Given the description of an element on the screen output the (x, y) to click on. 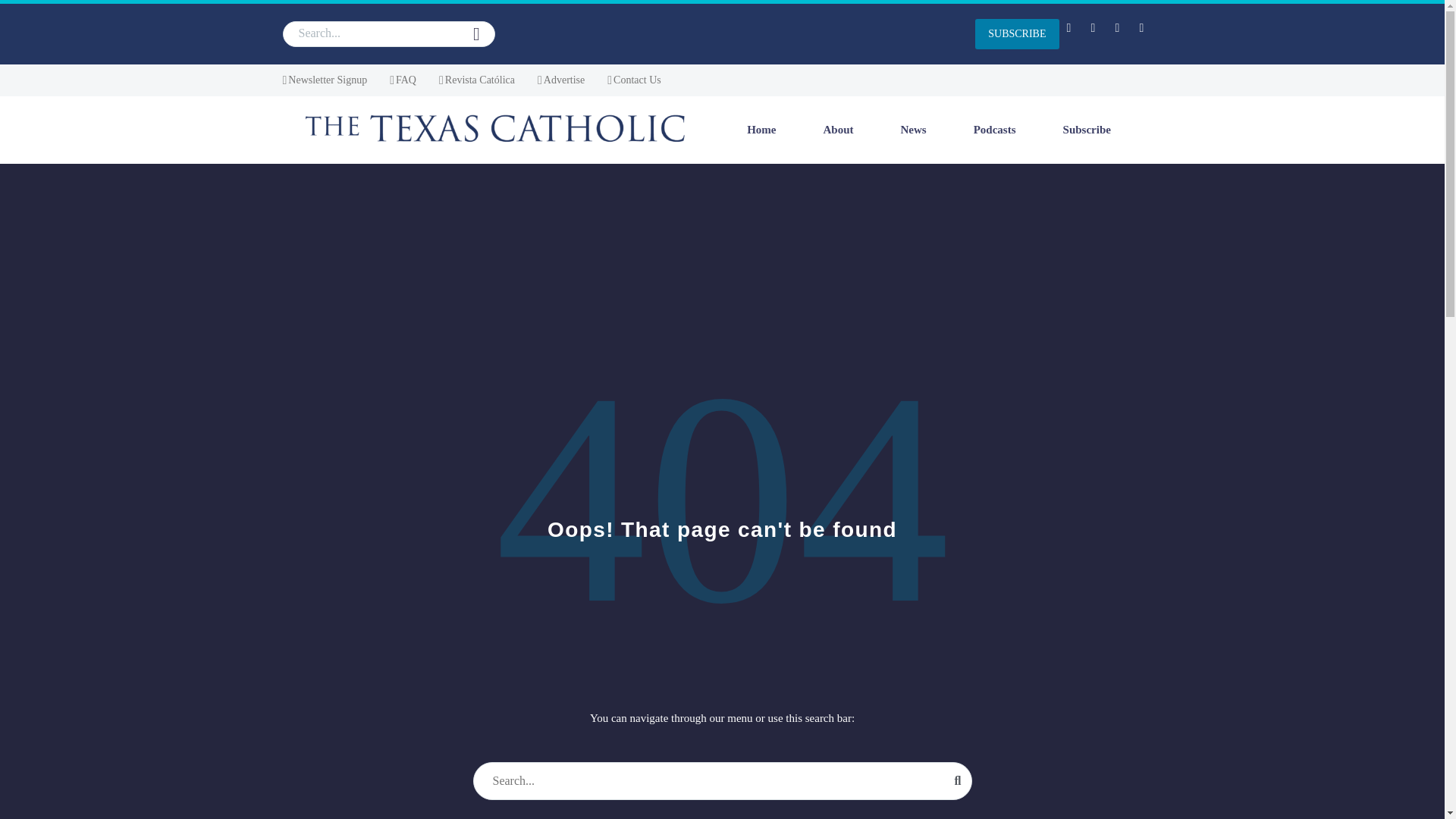
FAQ (403, 80)
SUBSCRIBE (1016, 33)
Podcasts (993, 129)
Subscribe (1086, 129)
About (838, 129)
Home (761, 129)
Contact Us (634, 80)
Advertise (561, 80)
News (913, 129)
Newsletter Signup (324, 80)
